Given the description of an element on the screen output the (x, y) to click on. 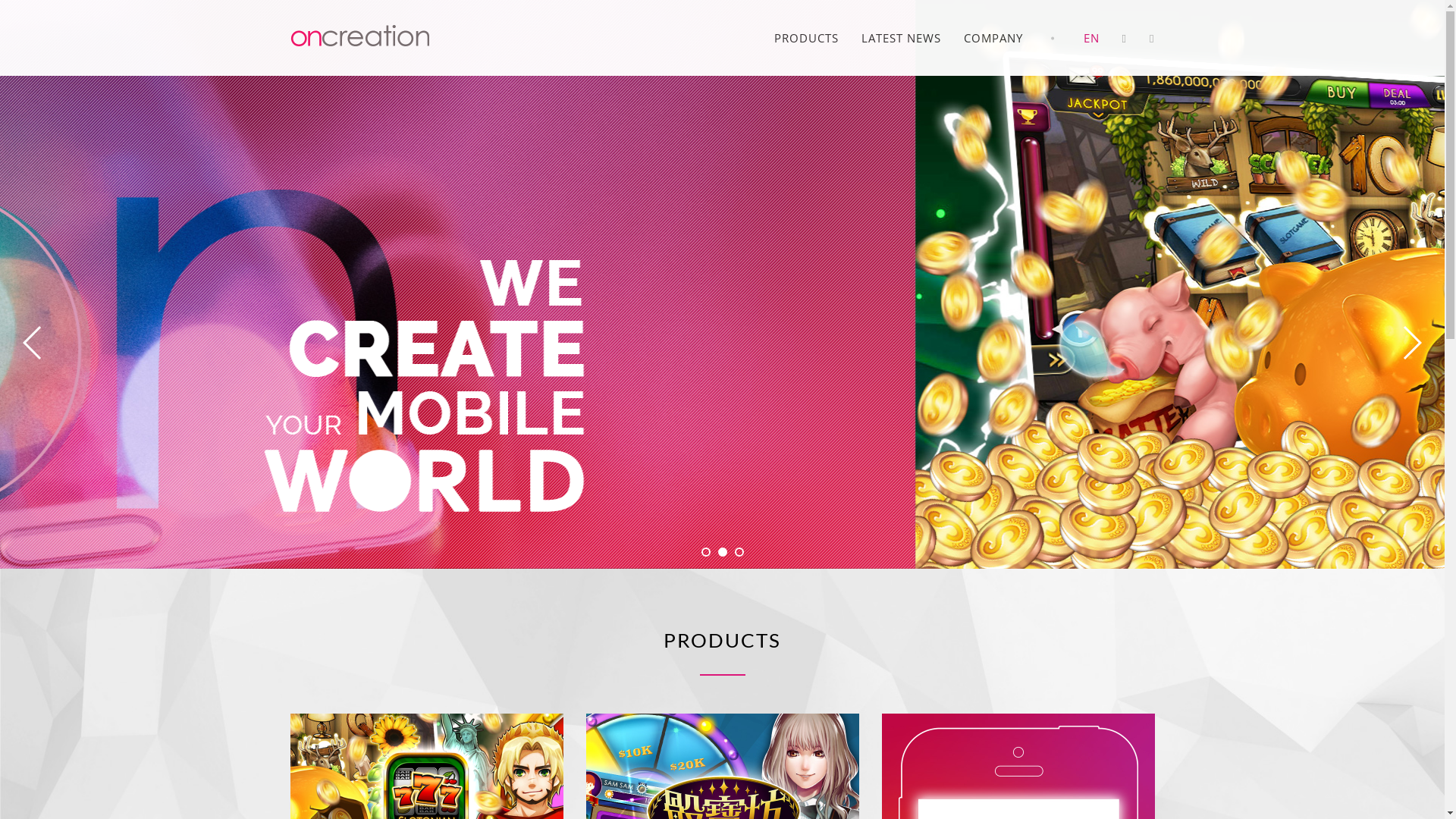
LATEST NEWS Element type: text (901, 37)
PRODUCTS Element type: text (806, 37)
COMPANY Element type: text (993, 37)
EN Element type: text (1091, 37)
